Given the description of an element on the screen output the (x, y) to click on. 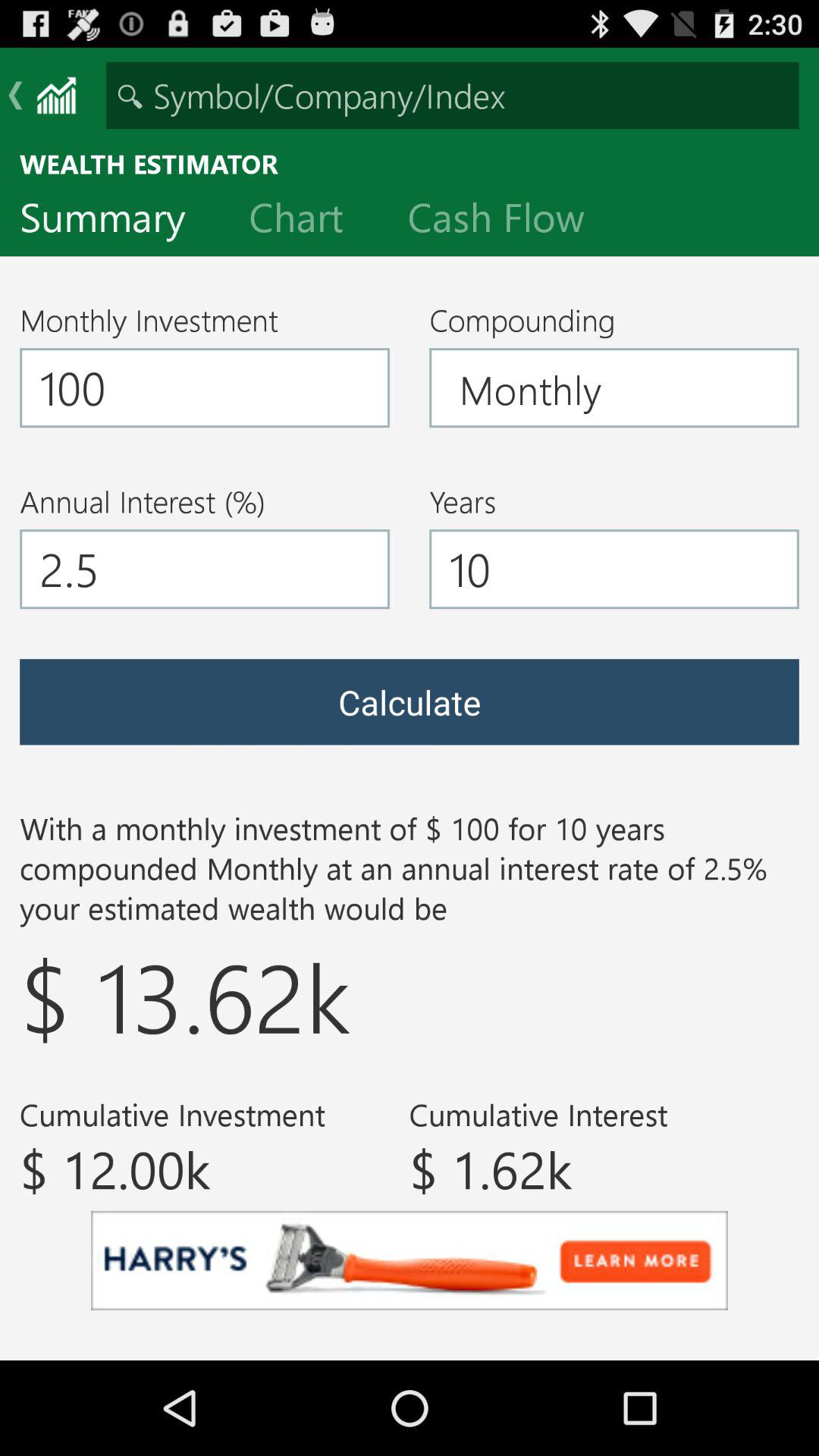
choose the item below the wealth estimator icon (507, 220)
